Given the description of an element on the screen output the (x, y) to click on. 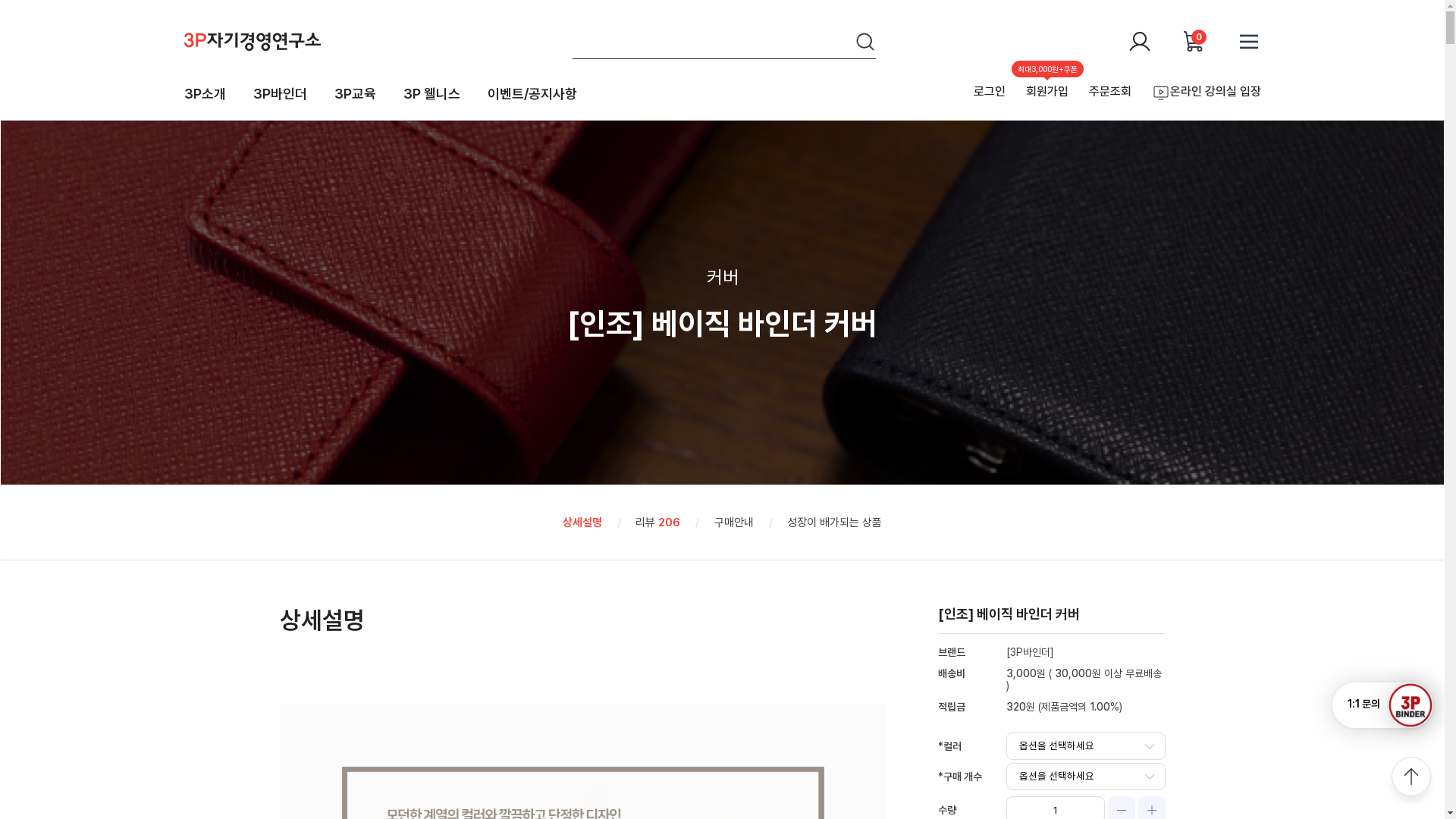
0 Element type: text (1193, 41)
